Given the description of an element on the screen output the (x, y) to click on. 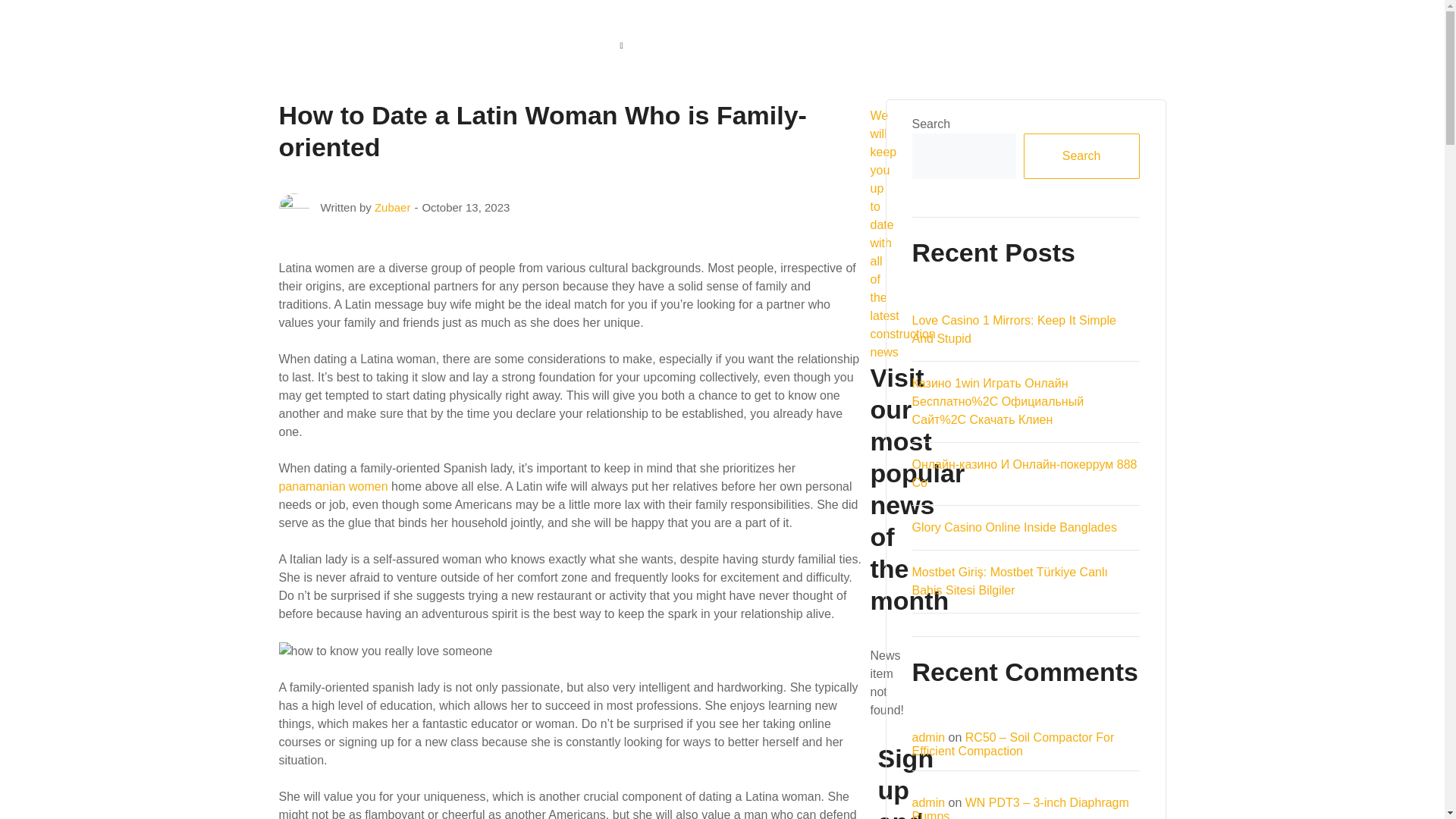
View all posts by Zubaer (392, 206)
Our Partners (846, 45)
admin (927, 737)
Search (1081, 156)
Glory Casino Online Inside Banglades (1013, 526)
Zubaer (392, 206)
admin (927, 802)
Services (751, 45)
Love Casino 1 Mirrors: Keep It Simple And Stupid (1013, 328)
Home (511, 45)
